Given the description of an element on the screen output the (x, y) to click on. 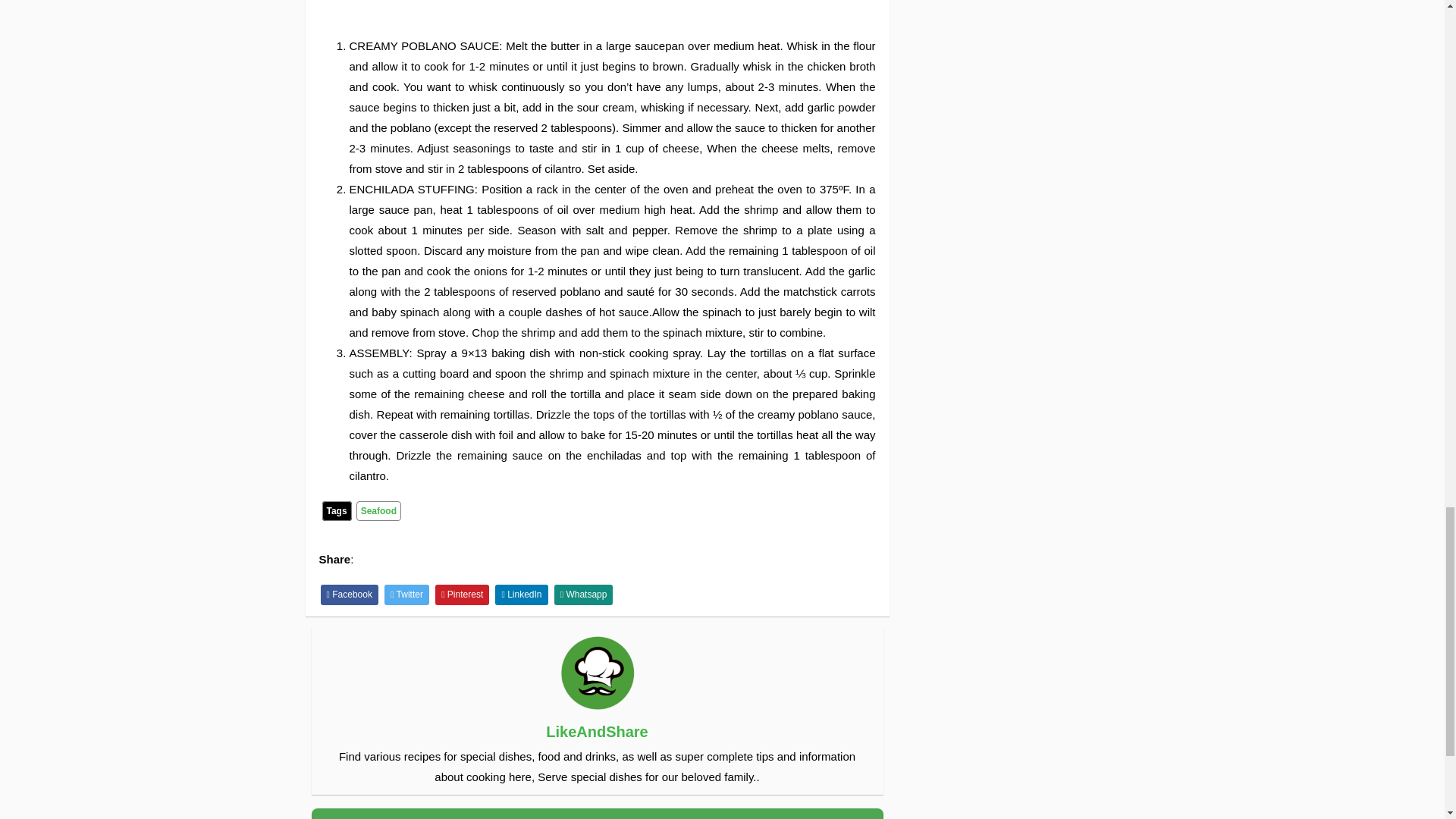
LikeAndShare (596, 731)
Seafood (378, 510)
